Given the description of an element on the screen output the (x, y) to click on. 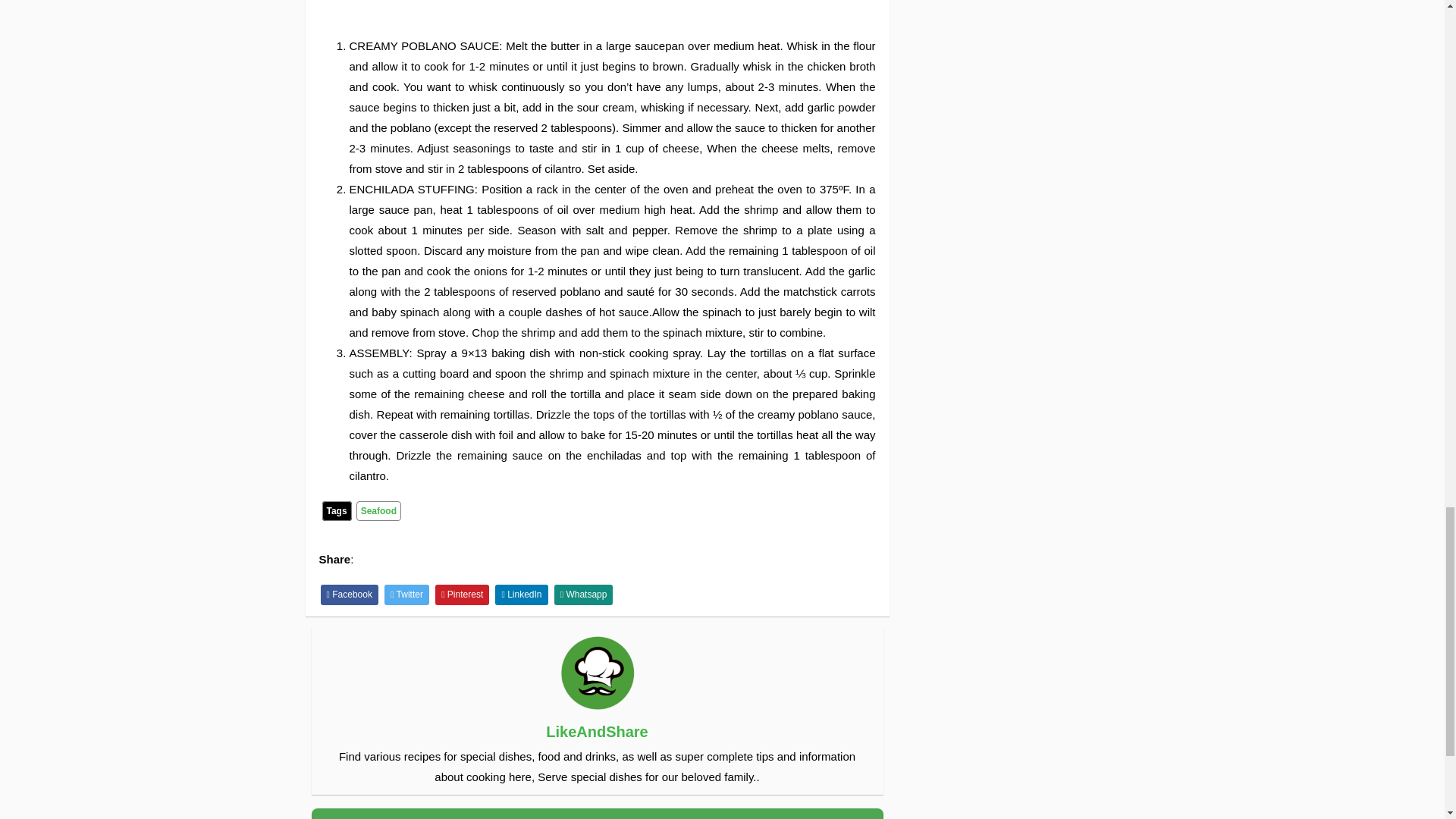
LikeAndShare (596, 731)
Seafood (378, 510)
